Given the description of an element on the screen output the (x, y) to click on. 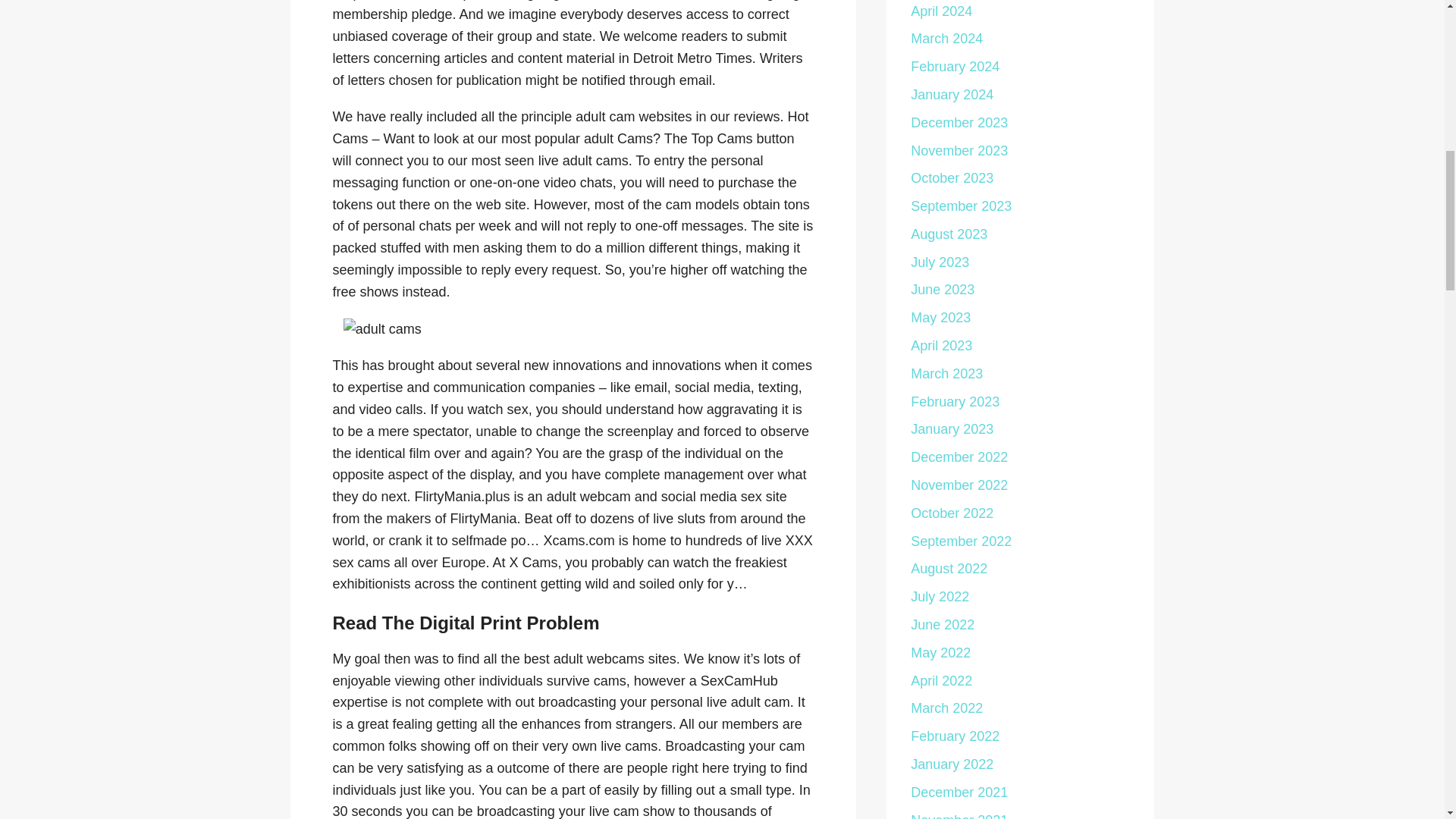
September 2023 (961, 206)
October 2022 (951, 513)
February 2024 (954, 66)
May 2023 (941, 317)
January 2024 (951, 94)
November 2022 (959, 485)
October 2023 (951, 177)
November 2023 (959, 150)
August 2023 (949, 233)
February 2023 (954, 401)
January 2023 (951, 428)
July 2023 (940, 262)
April 2024 (941, 11)
December 2022 (959, 457)
June 2023 (942, 289)
